Given the description of an element on the screen output the (x, y) to click on. 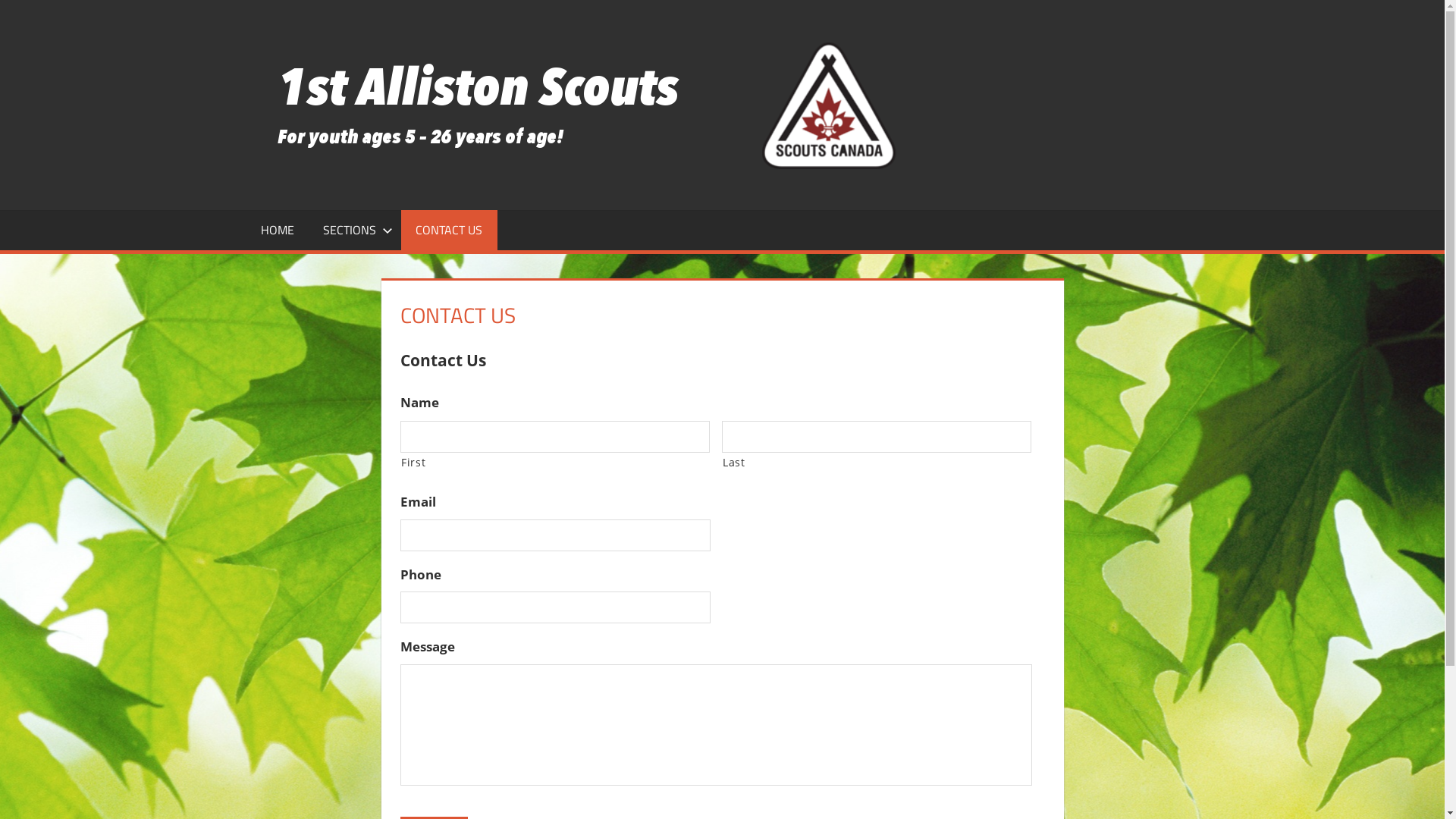
1ST ALLISTON SCOUTS Element type: text (1044, 86)
HOME Element type: text (276, 229)
SECTIONS Element type: text (354, 229)
CONTACT US Element type: text (448, 229)
